Given the description of an element on the screen output the (x, y) to click on. 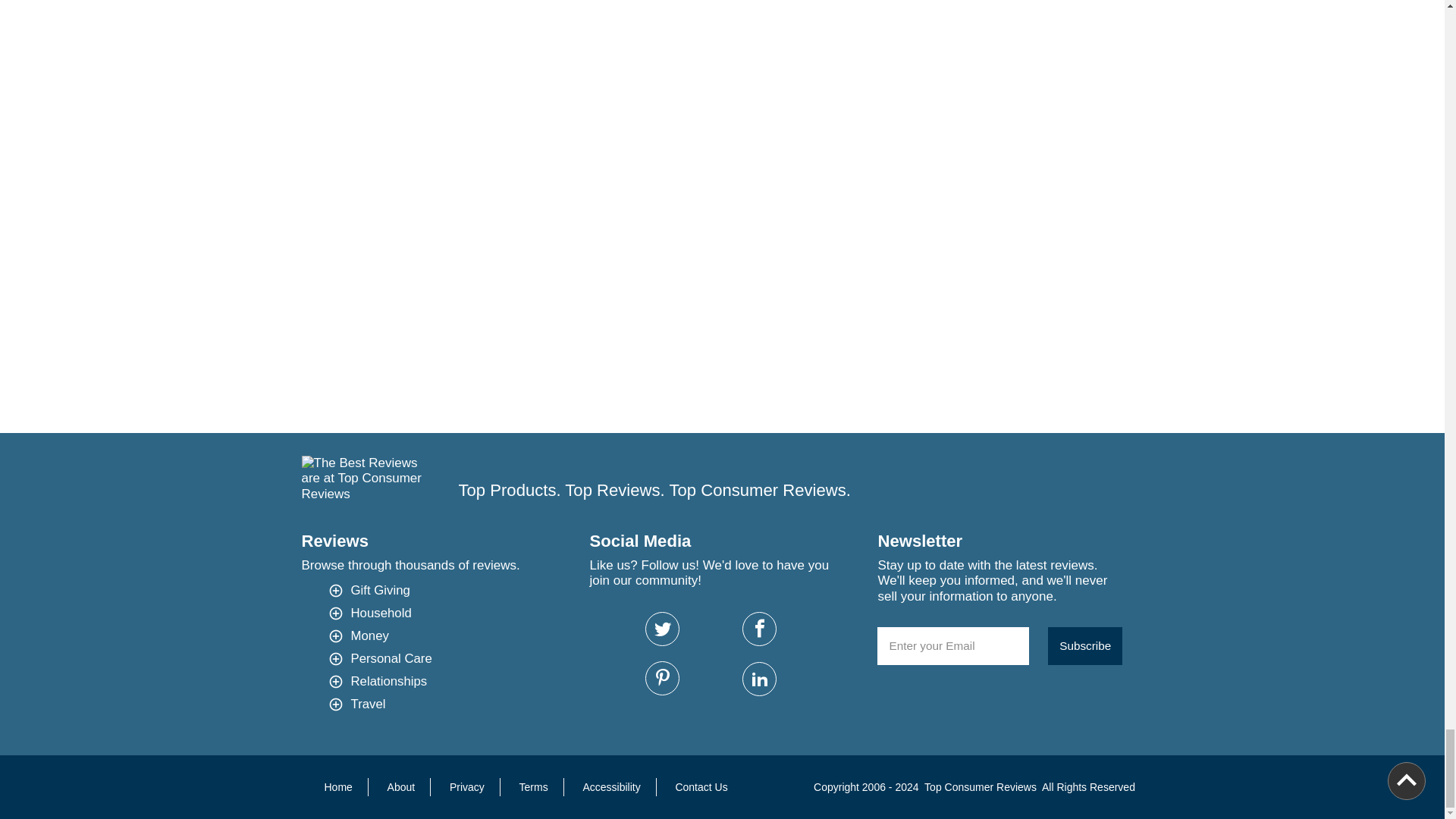
Visit Top Consumer Reviews on LinkedIn (759, 678)
Visit Top Consumer Reviews on Twitter (662, 628)
Visit Top Consumer Reviews on Pinterest (662, 677)
Visit Top Consumer Reviews on Facebook (759, 628)
